Given the description of an element on the screen output the (x, y) to click on. 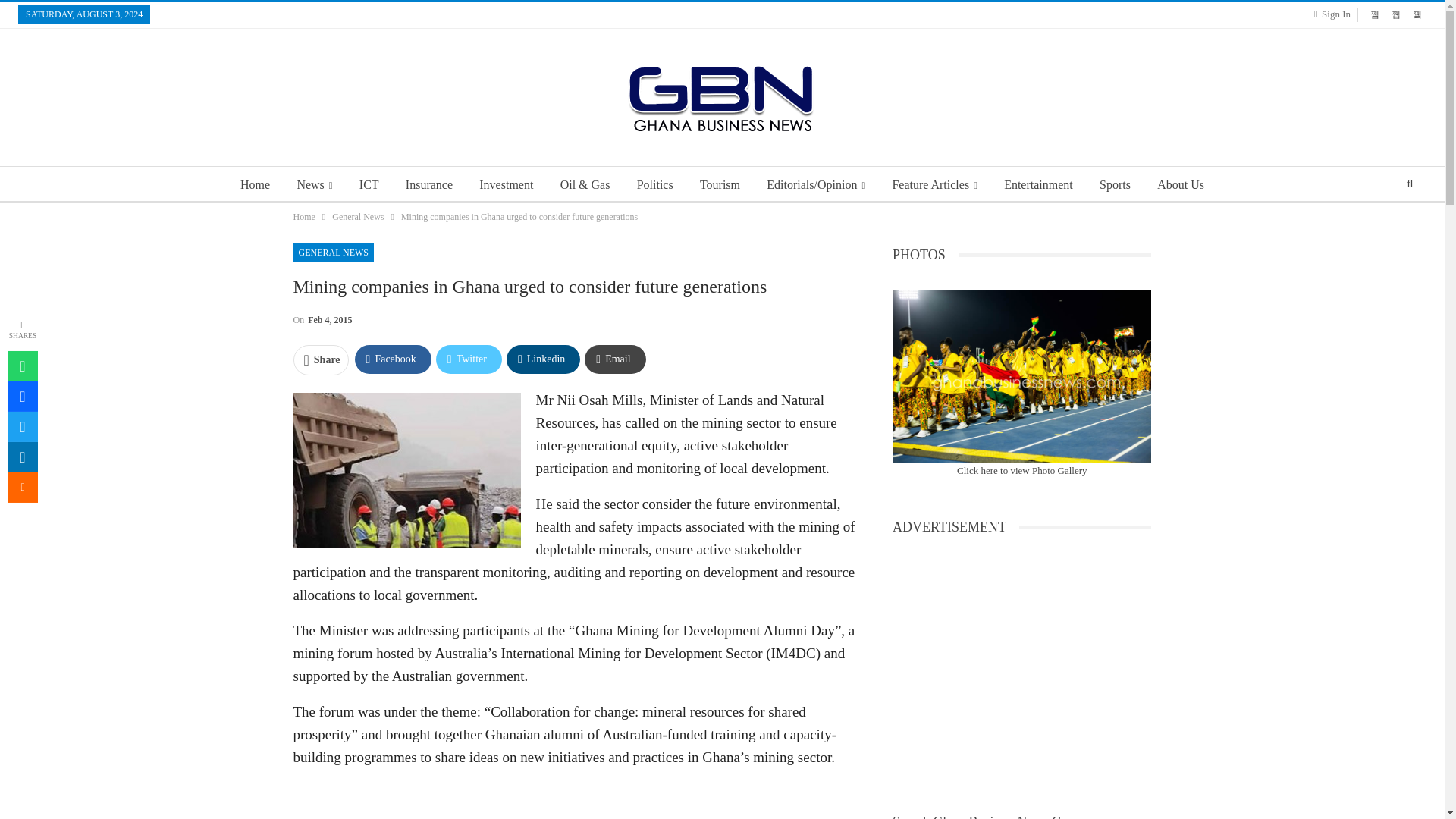
General News (357, 216)
Email (615, 358)
Facebook (392, 358)
Home (303, 216)
13th-African-games-47 (1021, 376)
Politics (654, 185)
Twitter (468, 358)
Home (255, 185)
GENERAL NEWS (333, 252)
Investment (505, 185)
Feature Articles (934, 185)
Advertisement (574, 800)
Sign In (1335, 13)
News (313, 185)
Insurance (428, 185)
